Given the description of an element on the screen output the (x, y) to click on. 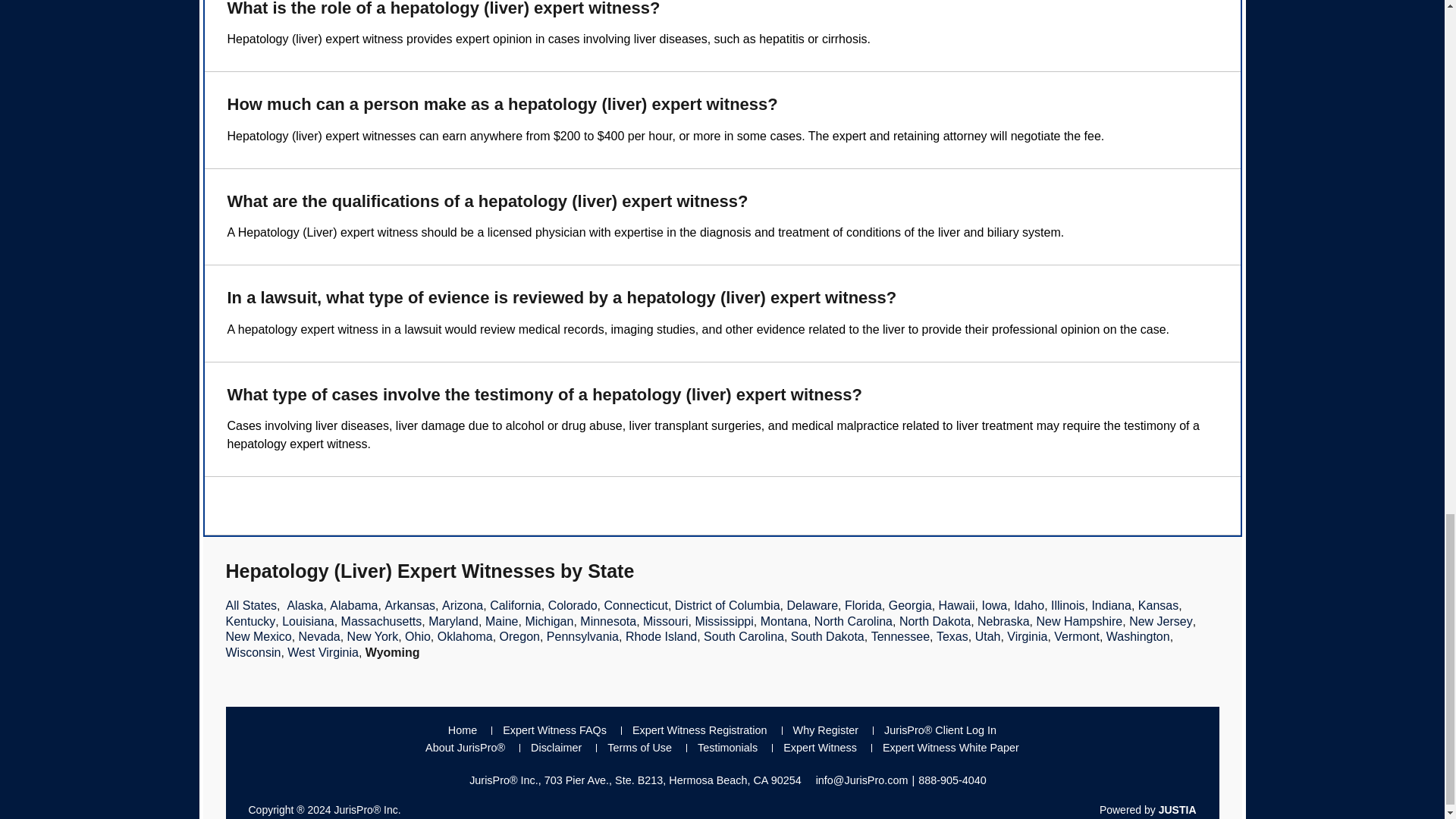
Georgia (909, 604)
Arizona (462, 604)
Iowa (994, 604)
Connecticut (636, 604)
Alabama (353, 604)
Arkansas (409, 604)
All States (251, 604)
Delaware (812, 604)
District of Columbia (727, 604)
Hawaii (957, 604)
Alaska (304, 604)
California (515, 604)
Colorado (572, 604)
Florida (863, 604)
